Given the description of an element on the screen output the (x, y) to click on. 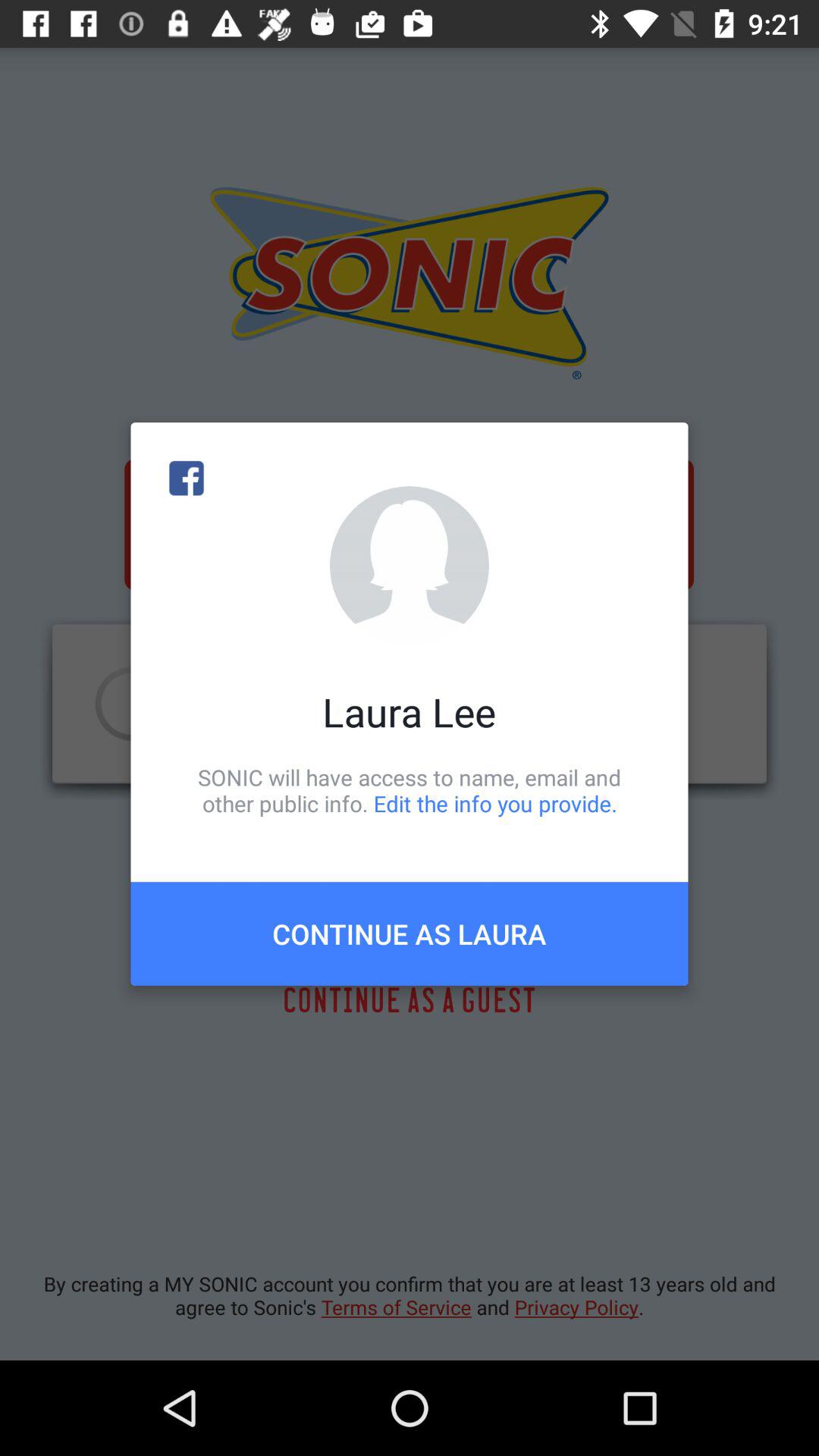
launch the item below sonic will have item (409, 933)
